Given the description of an element on the screen output the (x, y) to click on. 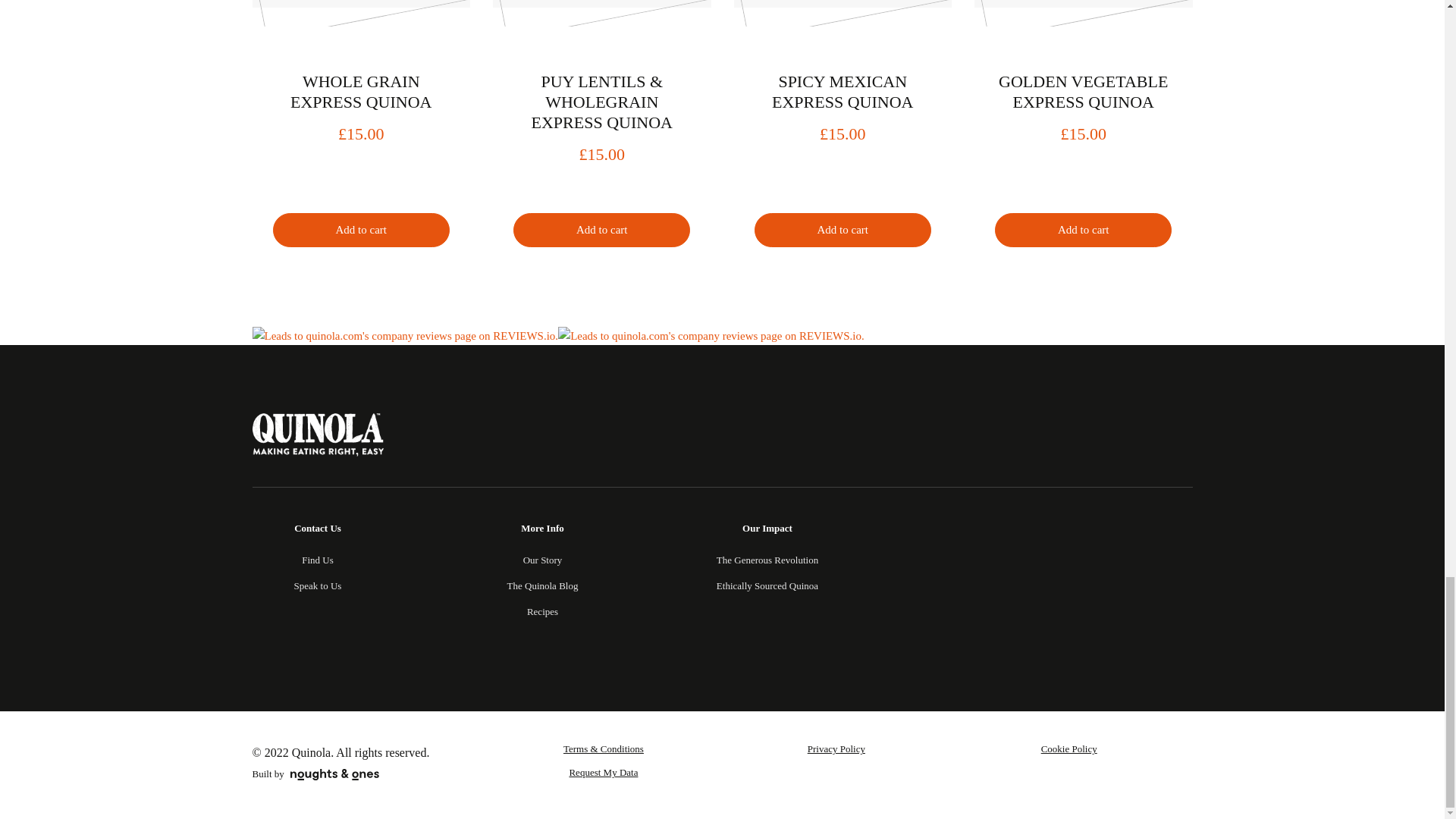
Spicy Mexican Express Quinoa (842, 13)
Golden Vegetable Express Quinoa (1083, 13)
Whole Grain Express Quinoa (360, 13)
